Given the description of an element on the screen output the (x, y) to click on. 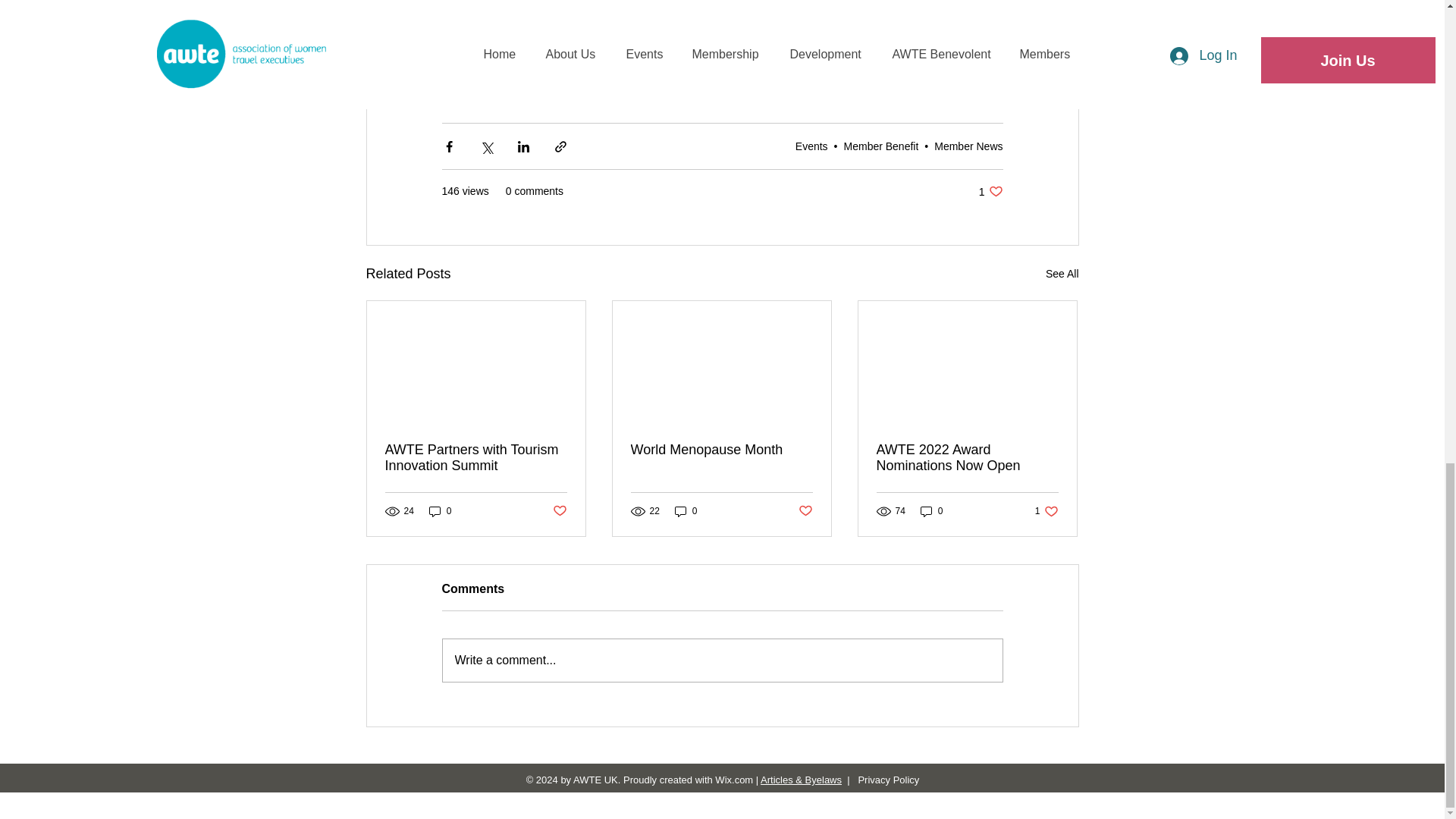
Member News (968, 146)
Events (811, 146)
Member Benefit (881, 146)
Nominate Today (725, 41)
